Given the description of an element on the screen output the (x, y) to click on. 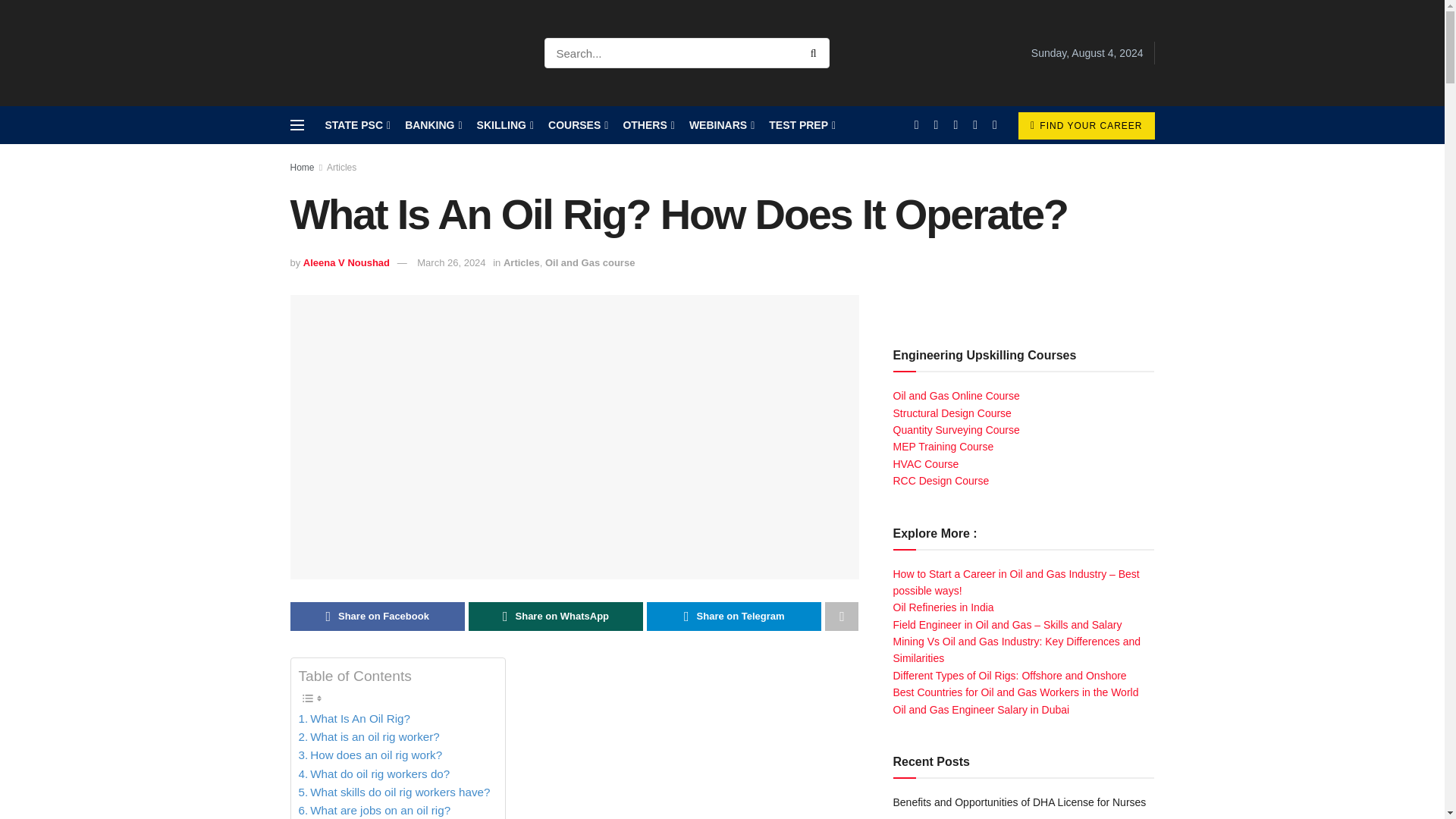
What is an oil rig worker? (368, 737)
How does an oil rig work? (370, 755)
What skills do oil rig workers have? (394, 791)
What do oil rig workers do? (373, 773)
STATE PSC (356, 125)
What are jobs on an oil rig? (374, 810)
BANKING (432, 125)
What Is An Oil Rig? (354, 719)
